Given the description of an element on the screen output the (x, y) to click on. 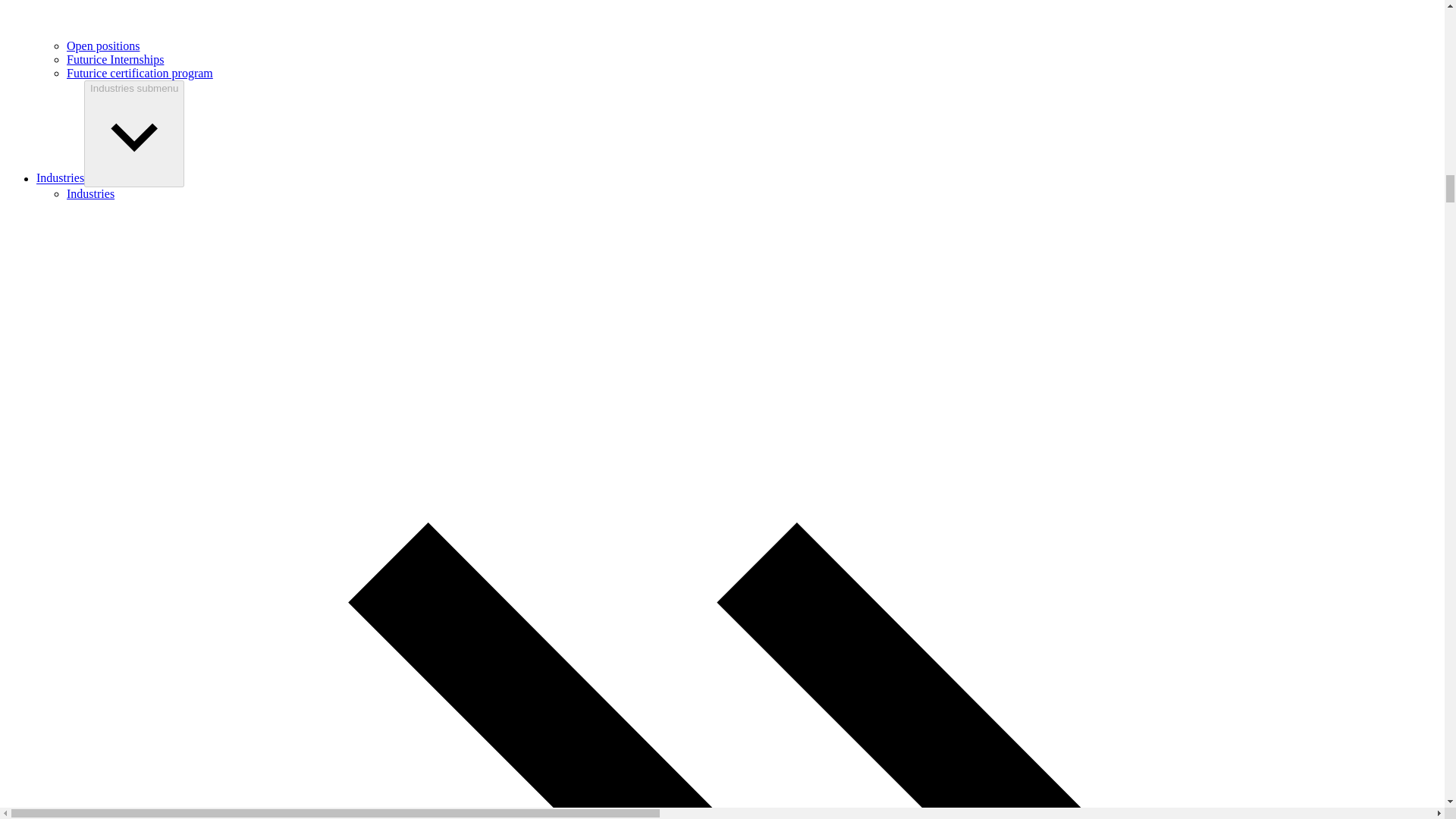
Futurice certification program (139, 72)
Careers (752, 19)
Industries (60, 178)
Futurice Internships (114, 59)
Industries submenu (134, 133)
Open positions (102, 45)
